Given the description of an element on the screen output the (x, y) to click on. 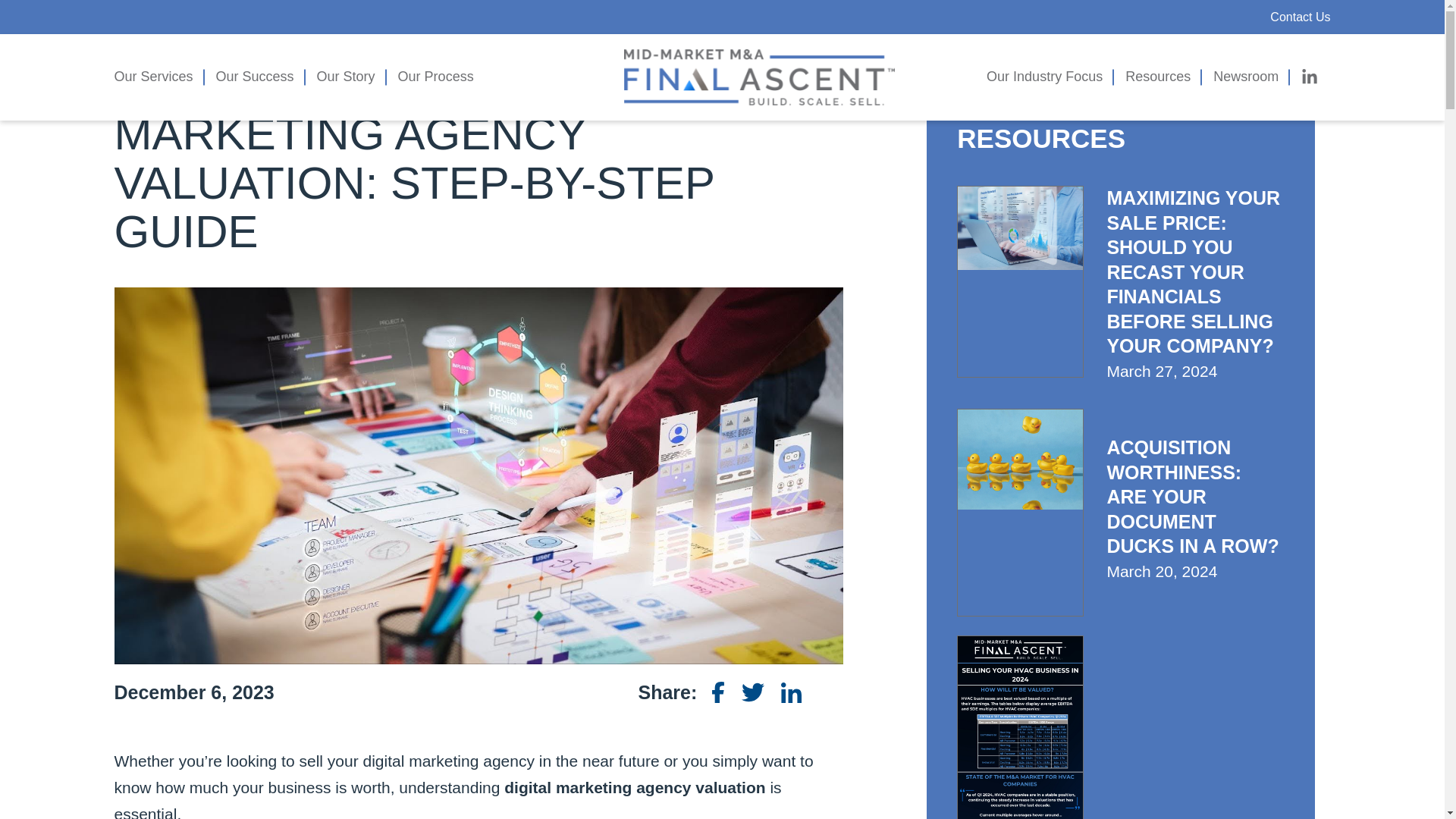
Newsroom (1246, 77)
Our Process (430, 77)
Resources (1157, 77)
Our Success (255, 77)
Our Story (346, 77)
Our Services (158, 77)
Contact Us (1299, 16)
Our Industry Focus (1050, 77)
